Given the description of an element on the screen output the (x, y) to click on. 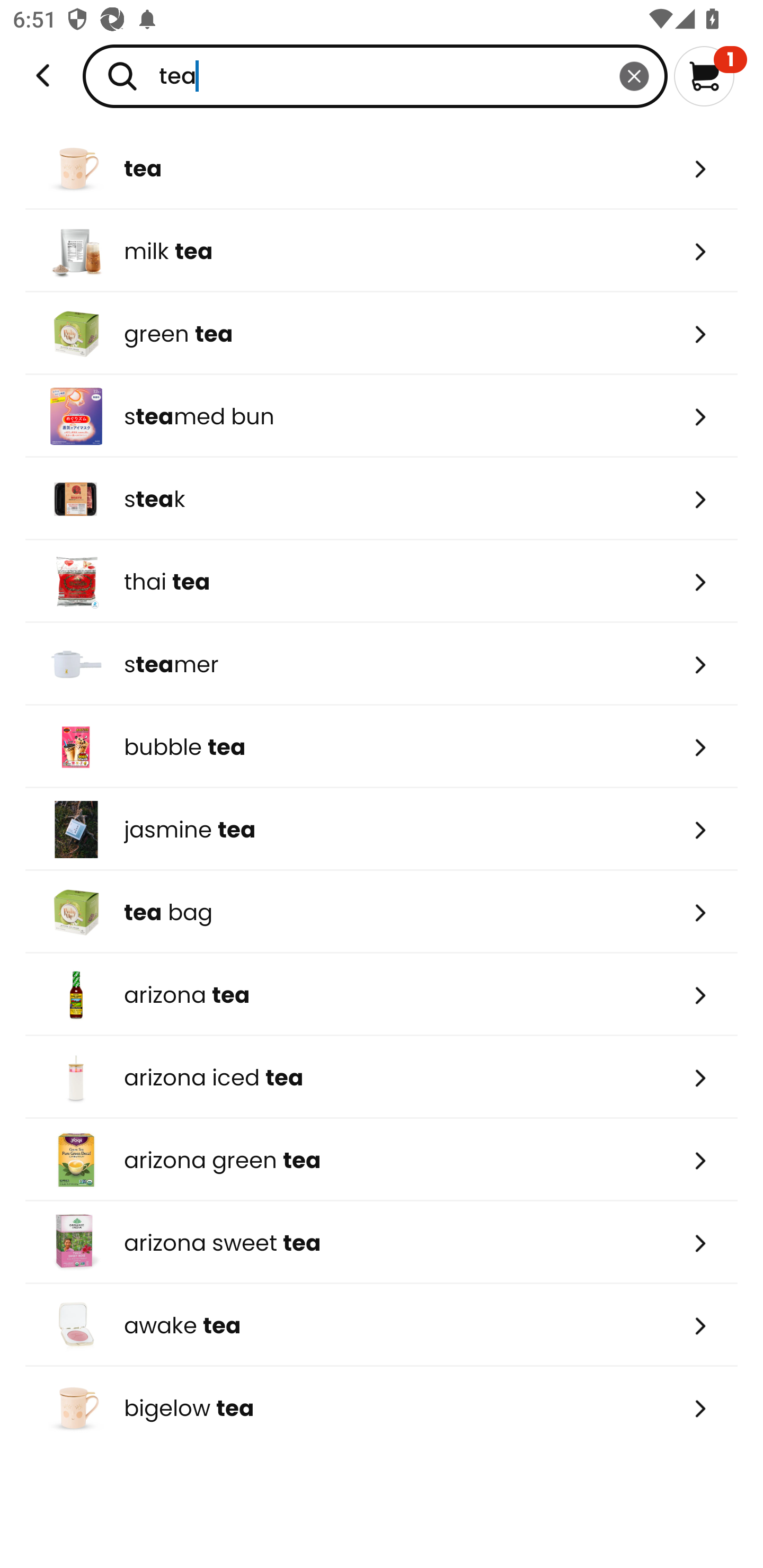
tea (374, 75)
1 (709, 75)
Weee! (42, 76)
tea (381, 168)
milk tea (381, 250)
green tea (381, 332)
steamed bun (381, 415)
steak (381, 498)
thai tea (381, 581)
steamer (381, 663)
bubble tea (381, 746)
jasmine tea (381, 829)
tea bag (381, 911)
arizona tea (381, 994)
arizona iced tea (381, 1077)
arizona green tea (381, 1160)
arizona sweet tea (381, 1242)
awake tea (381, 1325)
bigelow tea (381, 1407)
